Given the description of an element on the screen output the (x, y) to click on. 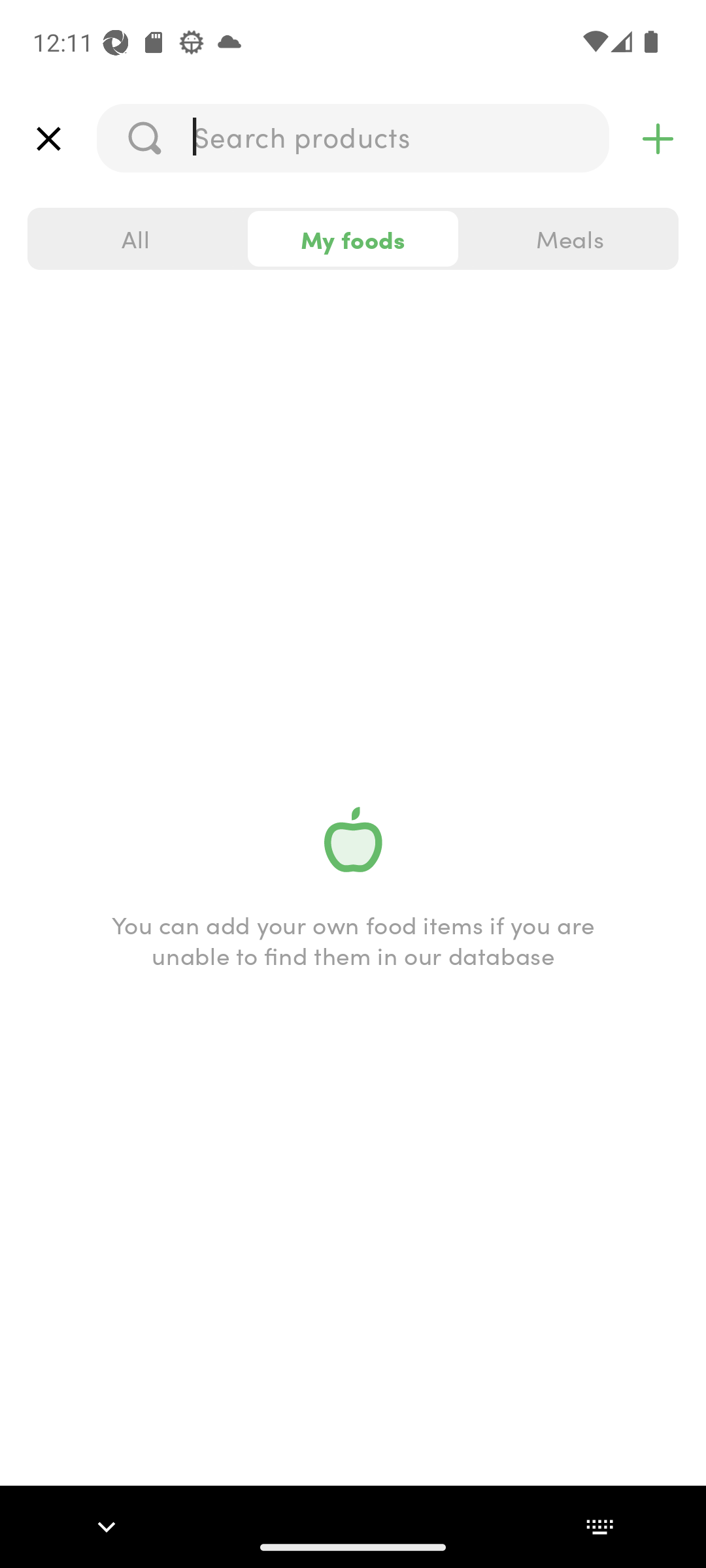
top_left_action (48, 138)
top_right_action (658, 138)
All (136, 238)
Meals (569, 238)
